Given the description of an element on the screen output the (x, y) to click on. 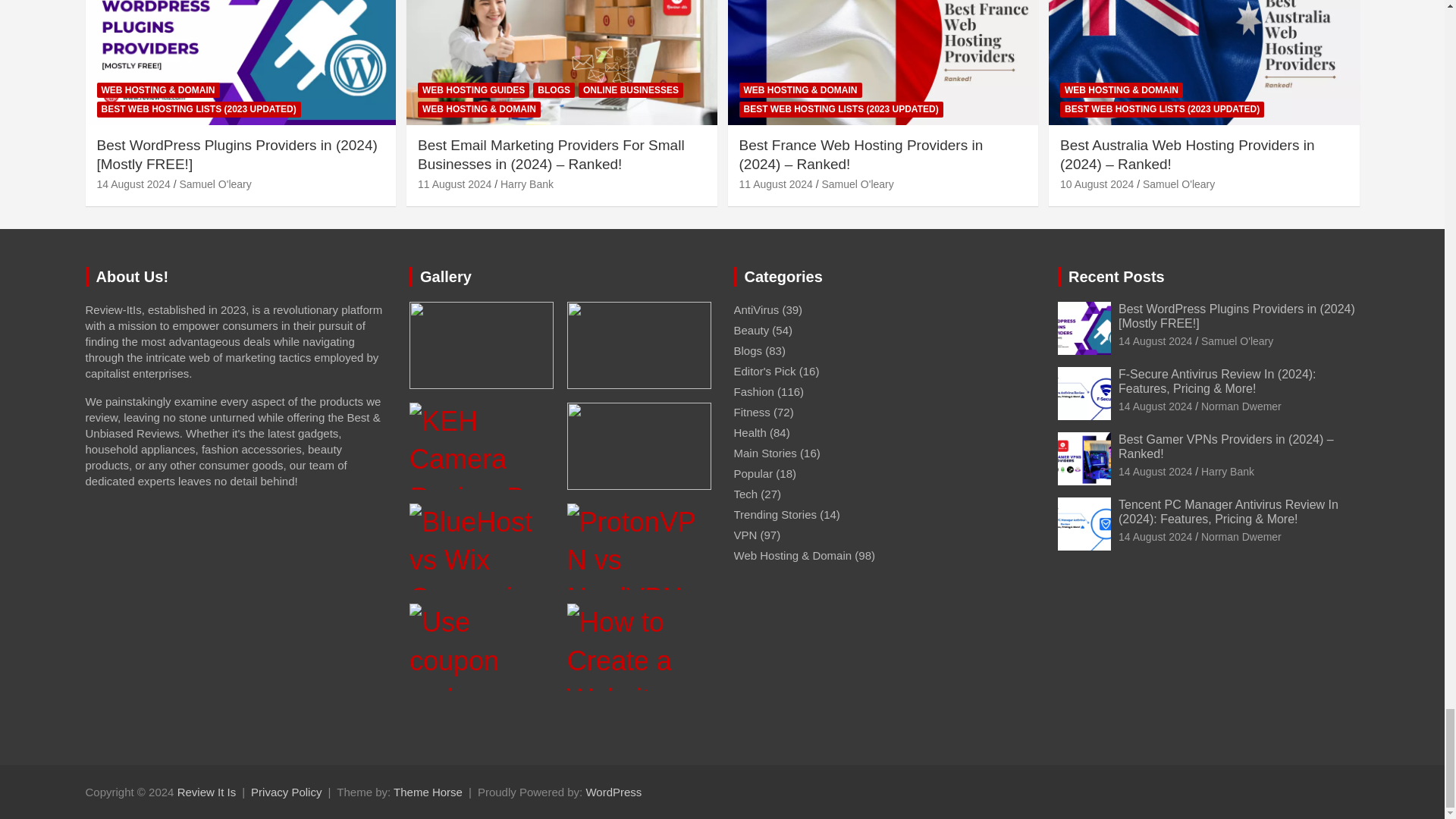
WordPress (613, 791)
Theme Horse (428, 791)
Review It Is (206, 791)
